Given the description of an element on the screen output the (x, y) to click on. 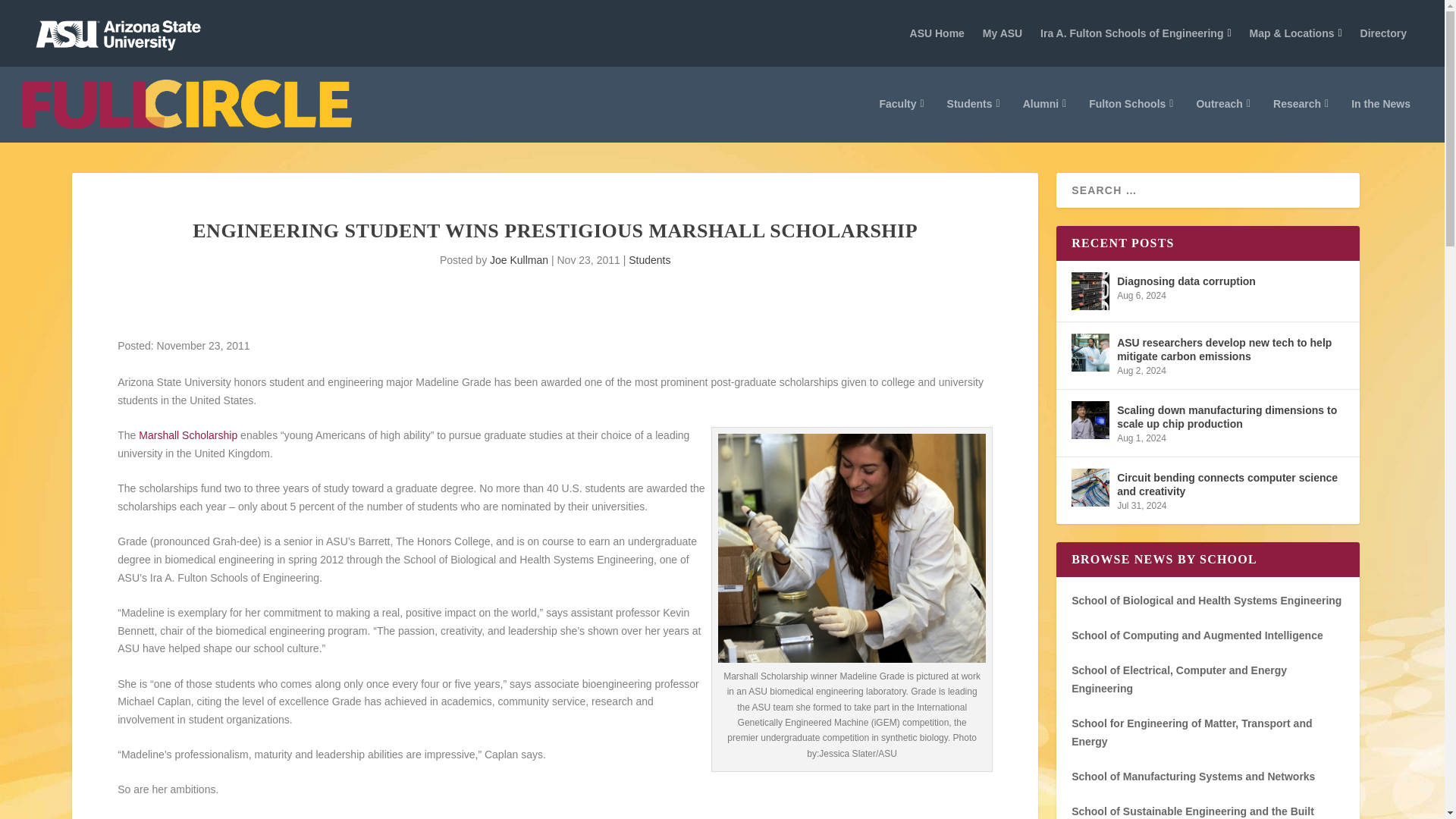
ASU Home (936, 33)
Students (973, 119)
Ira A. Fulton Schools of Engineering (1136, 33)
My ASU (1002, 33)
Directory (1382, 33)
Faculty (901, 119)
RECENT (1192, 147)
